Given the description of an element on the screen output the (x, y) to click on. 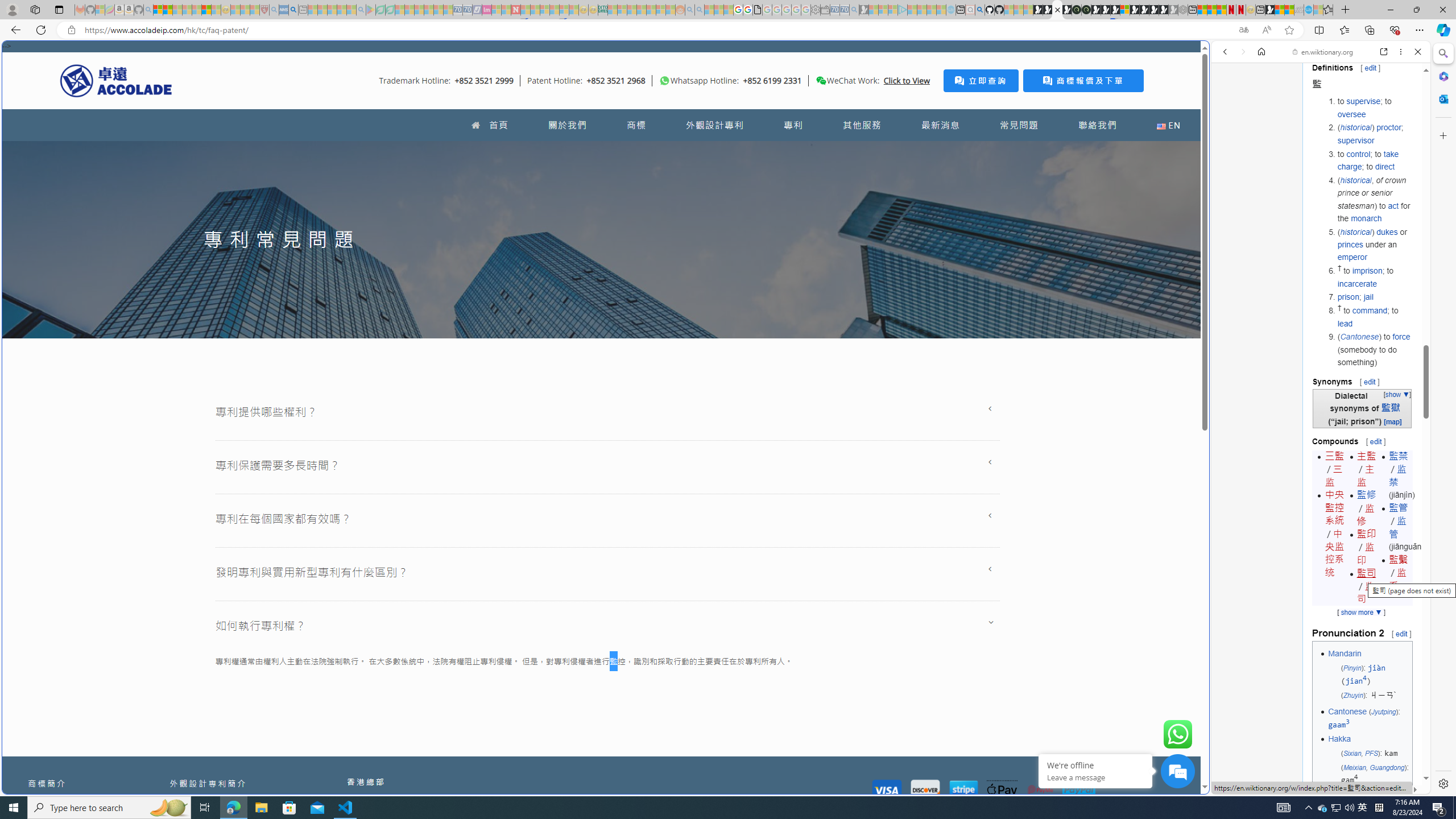
Cheap Car Rentals - Save70.com - Sleeping (844, 9)
Terms of Use Agreement - Sleeping (380, 9)
PFS (1370, 752)
Zhuyin (1352, 694)
Mandarin (1344, 652)
